Given the description of an element on the screen output the (x, y) to click on. 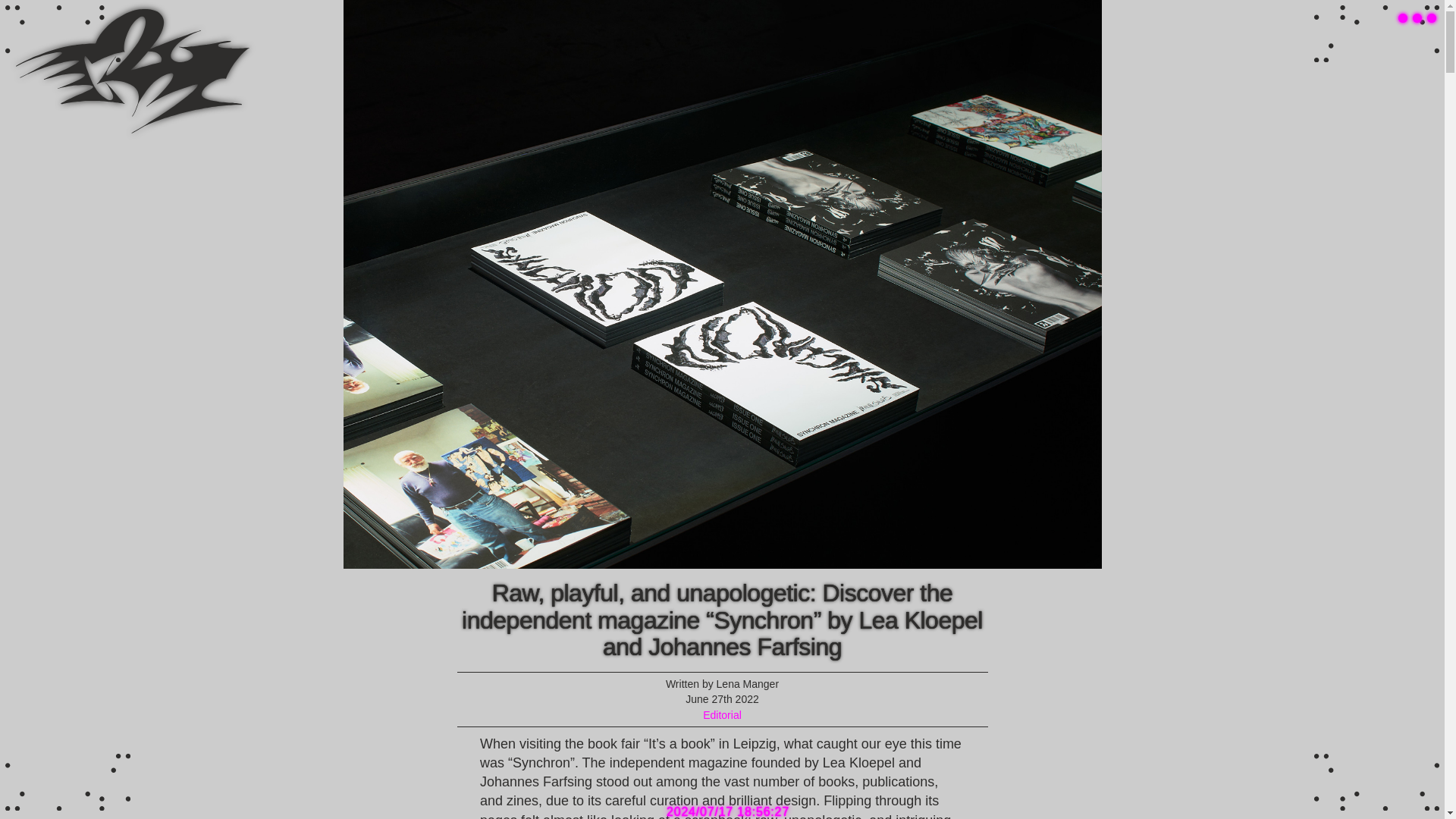
Posts by Lena Manger (747, 684)
Editorial (722, 715)
Lena Manger (747, 684)
